Given the description of an element on the screen output the (x, y) to click on. 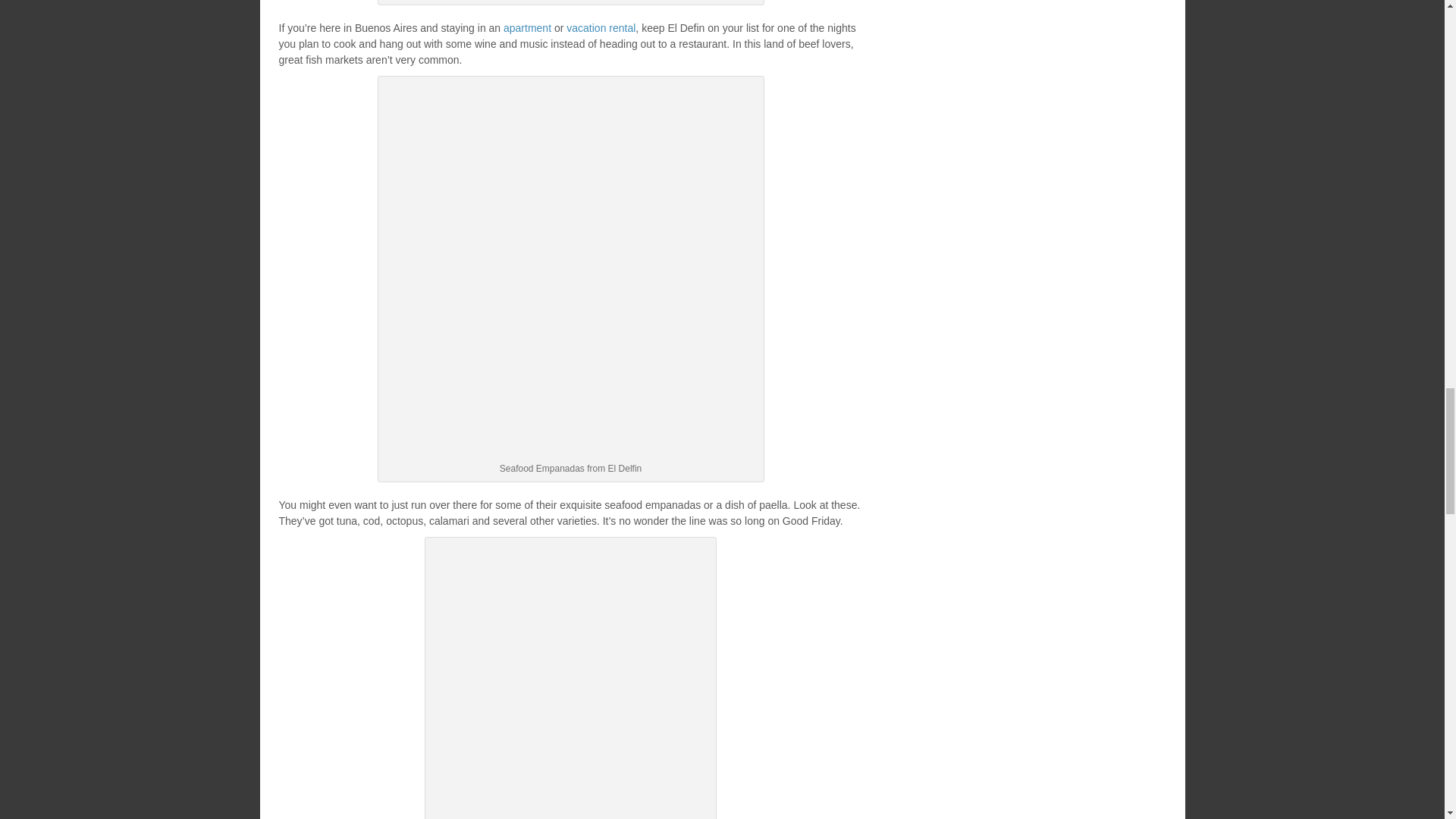
Pescaderia El Delfin (570, 681)
The Pad (600, 28)
apartment (527, 28)
The Loft (527, 28)
vacation rental (600, 28)
